Given the description of an element on the screen output the (x, y) to click on. 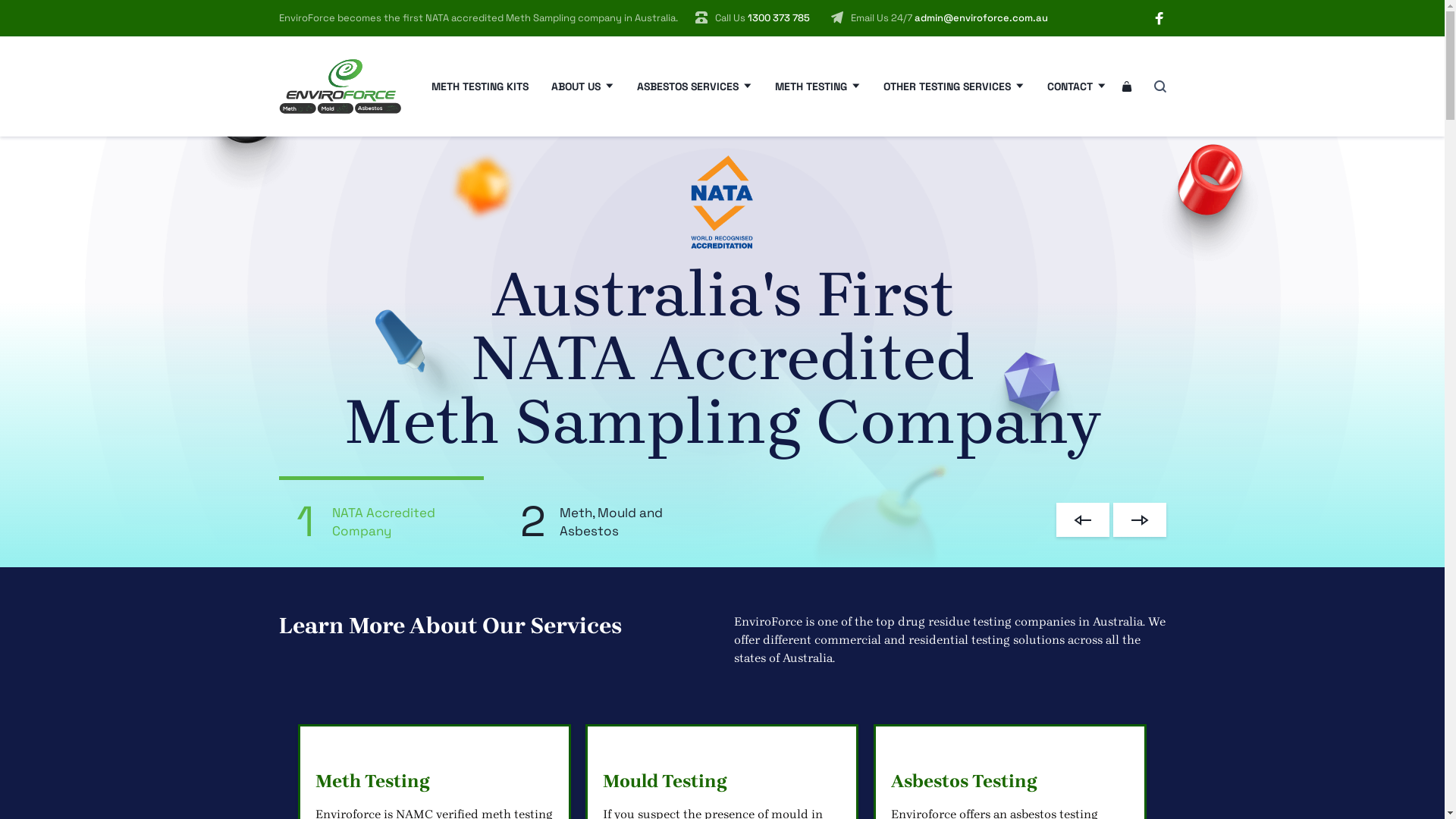
METH TESTING KITS Element type: text (478, 86)
ABOUT US Element type: text (581, 86)
1300 373 785 Element type: text (778, 17)
OTHER TESTING SERVICES Element type: text (952, 86)
admin@enviroforce.com.au Element type: text (981, 17)
CONTACT Element type: text (1075, 86)
METH TESTING Element type: text (817, 86)
ASBESTOS SERVICES Element type: text (694, 86)
Search Element type: text (1153, 86)
